Given the description of an element on the screen output the (x, y) to click on. 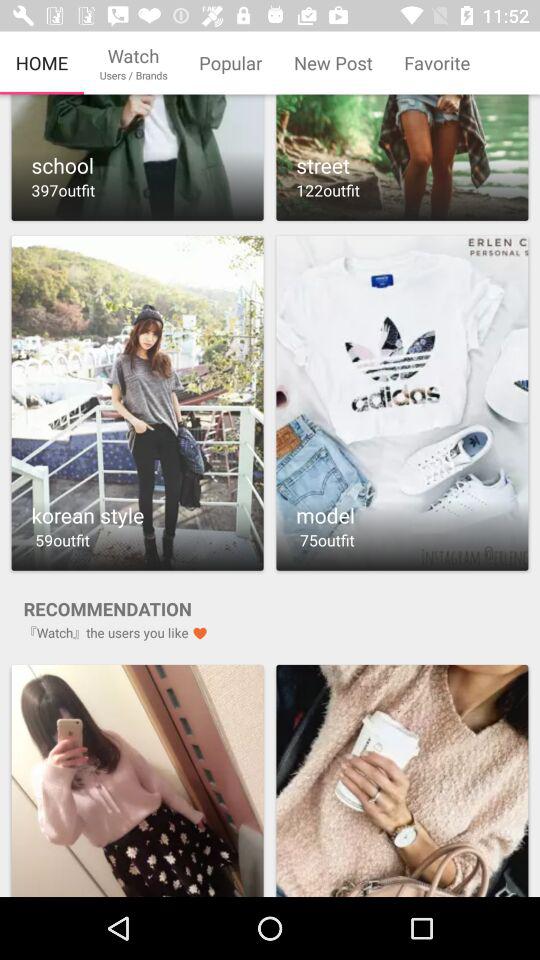
click the option (402, 158)
